Given the description of an element on the screen output the (x, y) to click on. 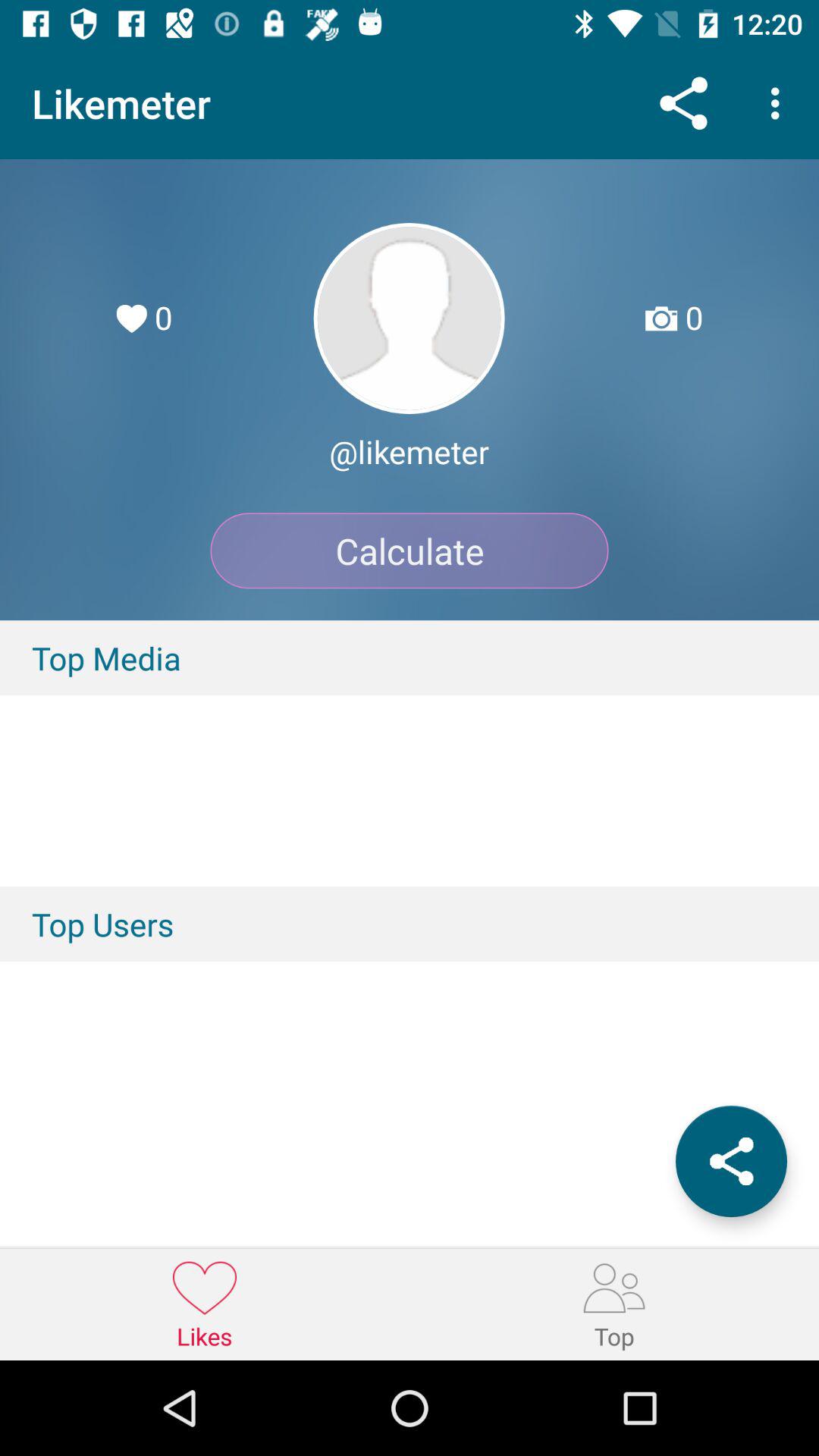
tap the icon below the top users (731, 1161)
